Given the description of an element on the screen output the (x, y) to click on. 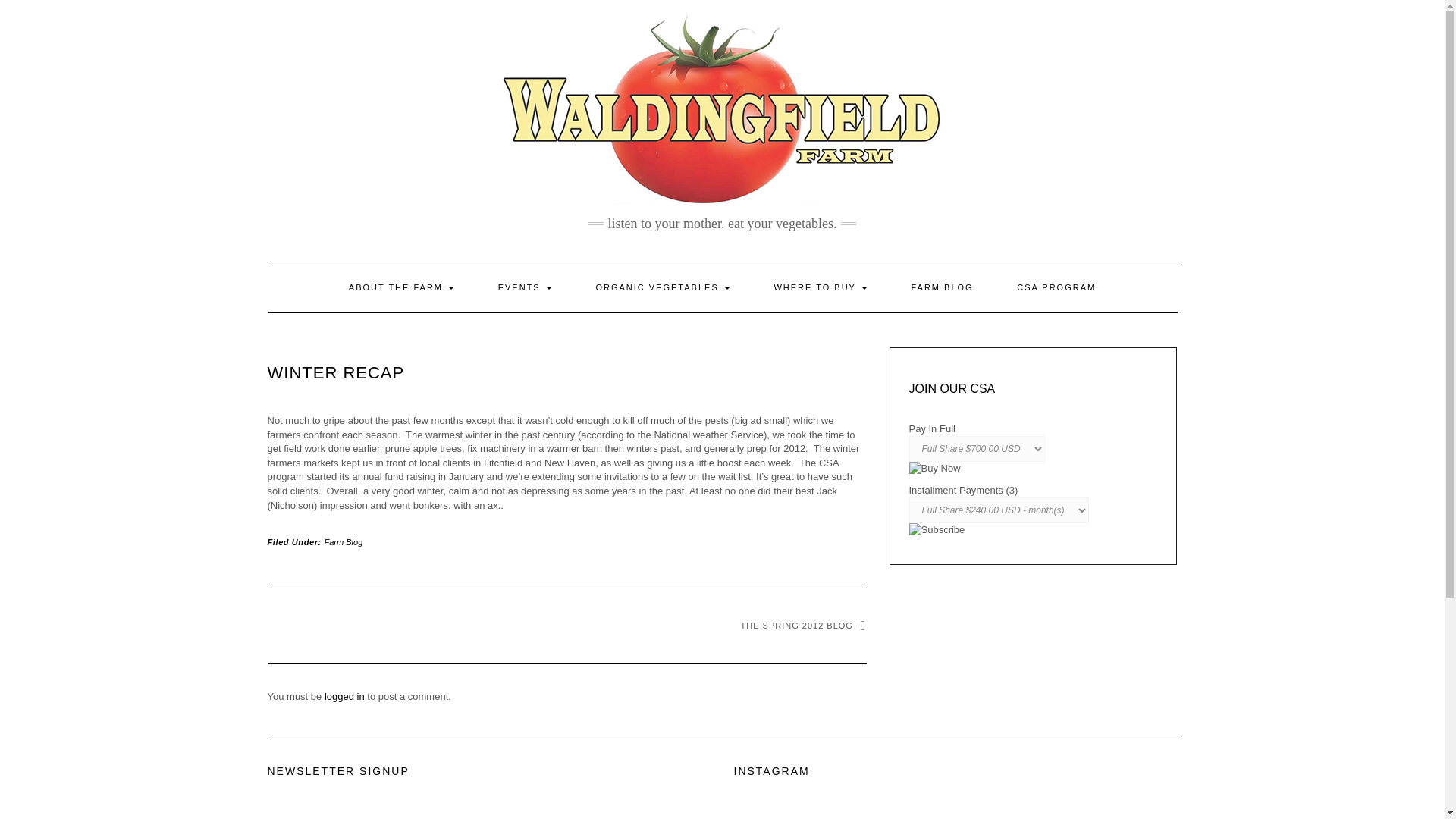
ORGANIC VEGETABLES (662, 287)
CSA PROGRAM (1055, 287)
PayPal - The safer, easier way to pay online! (935, 530)
EVENTS (524, 287)
WHERE TO BUY (819, 287)
FARM BLOG (940, 287)
logged in (344, 696)
Farm Blog (343, 542)
THE SPRING 2012 BLOG (803, 624)
PayPal - The safer, easier way to pay online! (933, 468)
